Given the description of an element on the screen output the (x, y) to click on. 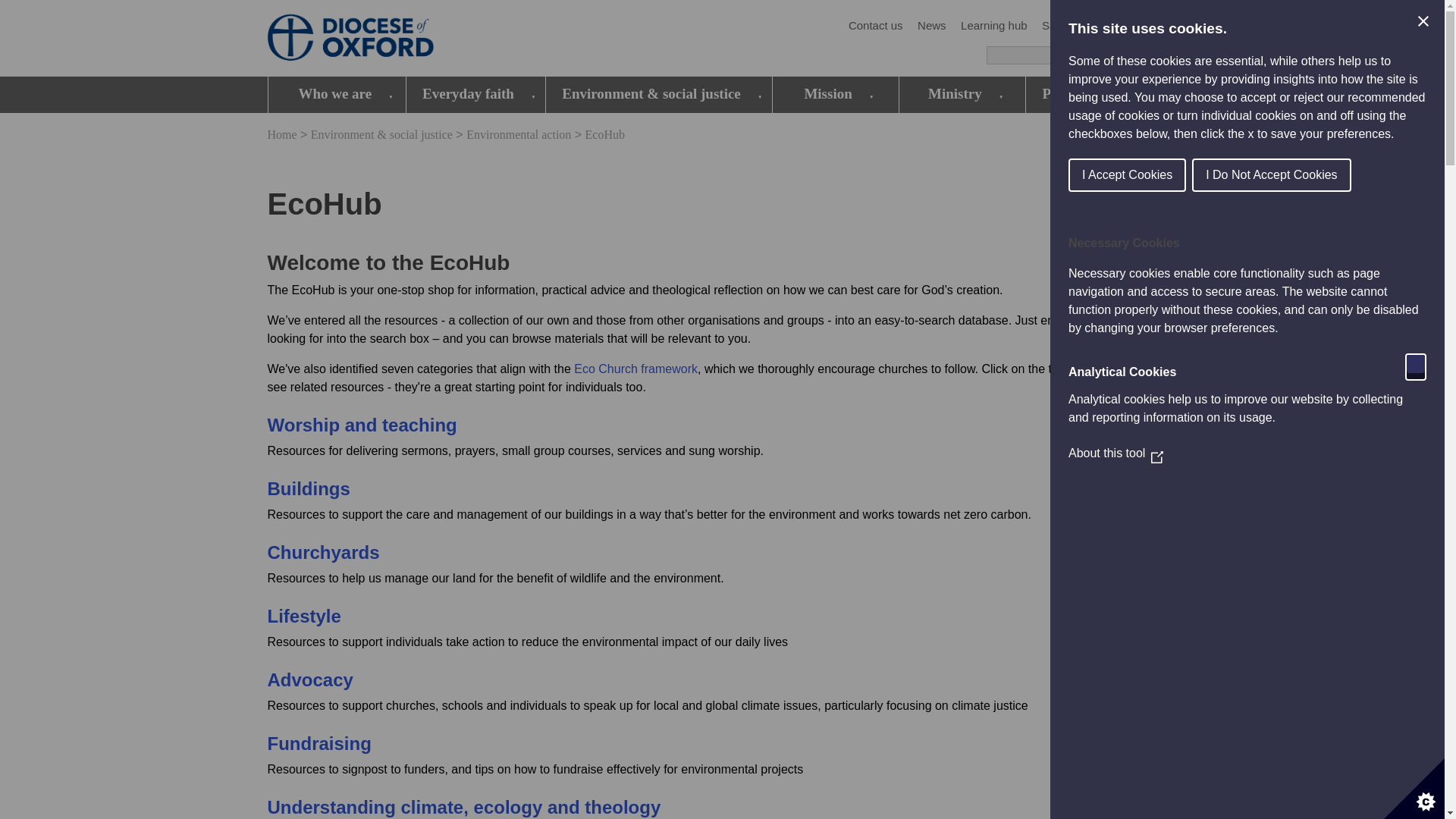
Education (1149, 25)
News (931, 25)
Diocese of Oxford Logo (376, 39)
Safeguarding (1075, 25)
Learning hub (993, 25)
Contact us (875, 25)
